Given the description of an element on the screen output the (x, y) to click on. 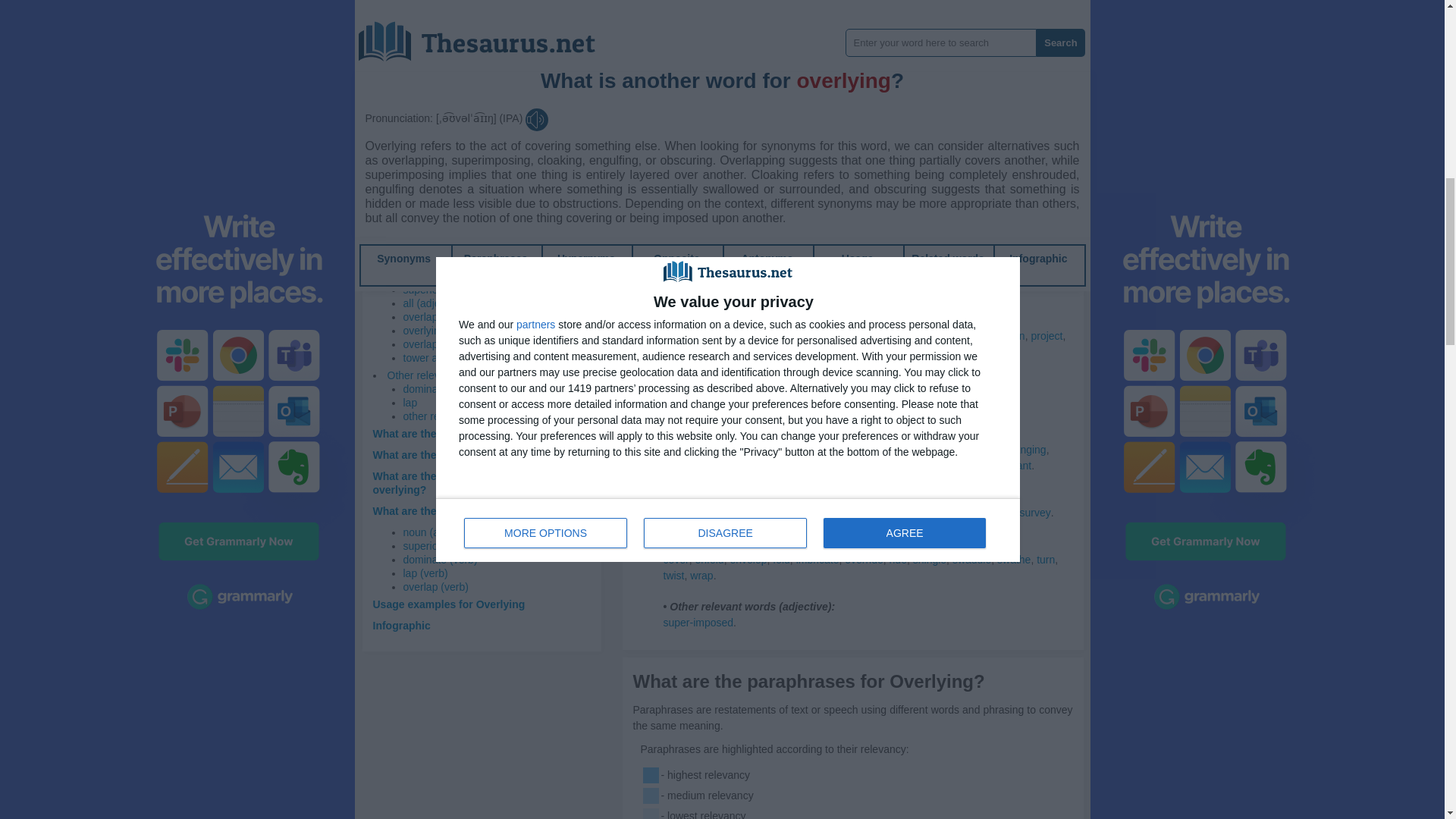
Synonyms for Overlying (816, 44)
dominate (424, 388)
What are the hypernyms for overlying? (471, 454)
Synonyms for Overlying (978, 44)
Usage examples for Overlying (448, 604)
Synonyms for Overlying (892, 28)
Other relevant words: (437, 375)
Synonyms for Overlying (745, 28)
Synonyms for Overlying (684, 44)
Synonyms for Overlying (857, 60)
